Given the description of an element on the screen output the (x, y) to click on. 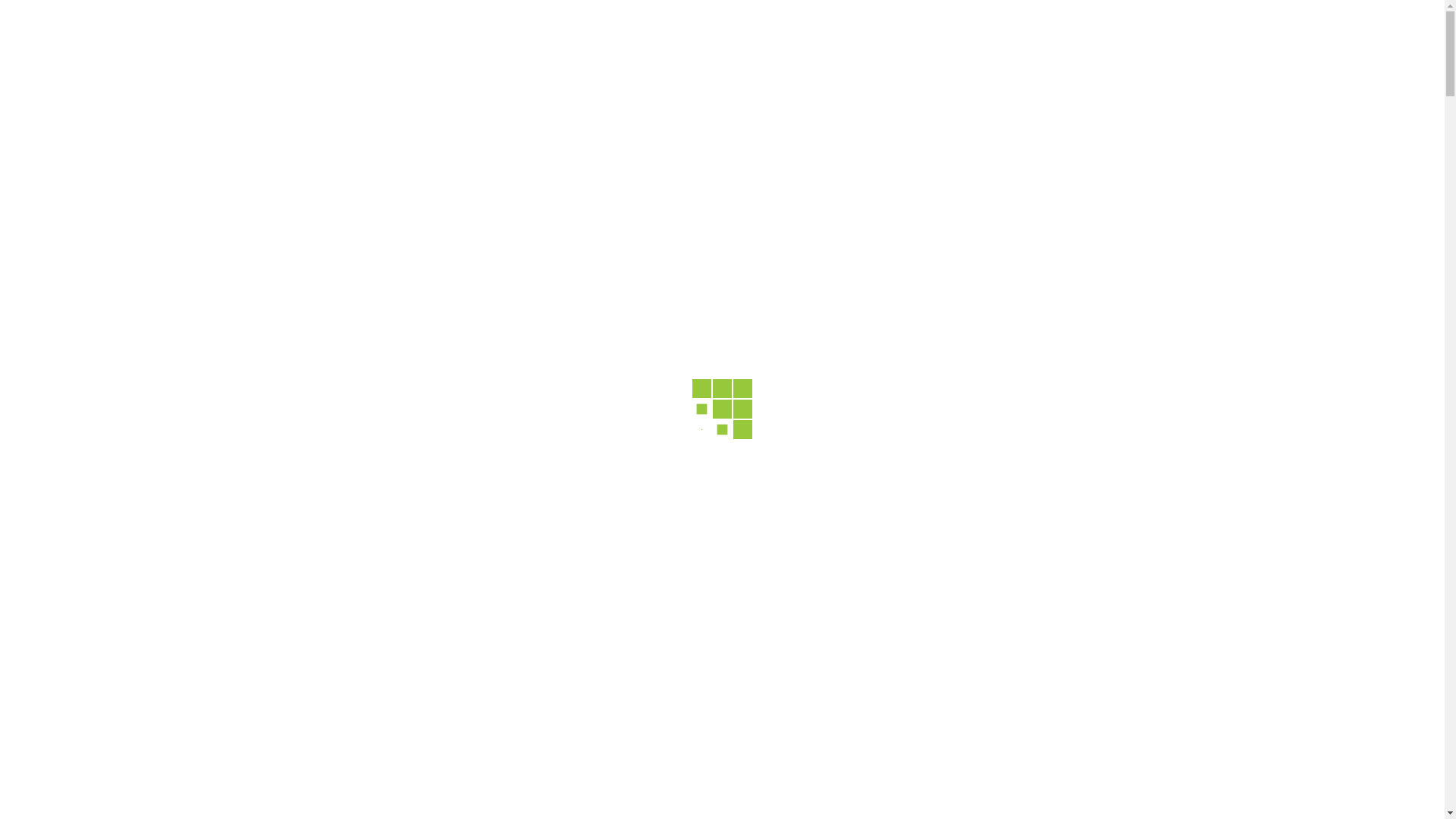
ABOUT US Element type: text (343, 587)
Search Element type: text (1282, 43)
GALLERY Element type: text (739, 39)
Search Element type: text (1282, 123)
CONTACTS Element type: text (924, 39)
CLIENT PORTAL Element type: text (1061, 39)
ABOUT US Element type: text (521, 39)
DESIGNS Element type: text (634, 39)
NEWS Element type: text (829, 39)
HOME Element type: text (423, 39)
